Given the description of an element on the screen output the (x, y) to click on. 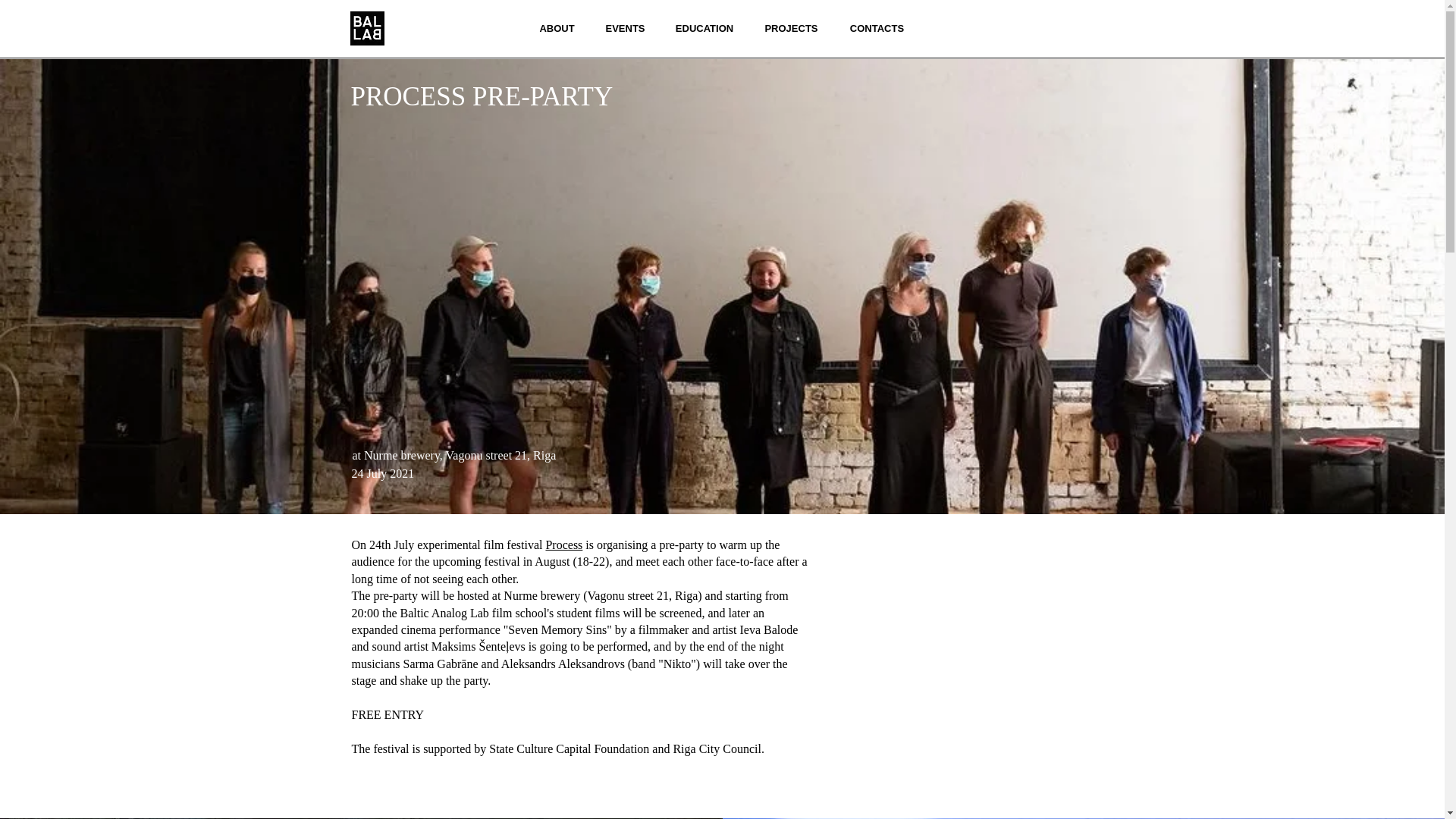
PROJECTS (790, 28)
CONTACTS (876, 28)
Process (563, 544)
ABOUT (556, 28)
EDUCATION (704, 28)
EVENTS (625, 28)
